Given the description of an element on the screen output the (x, y) to click on. 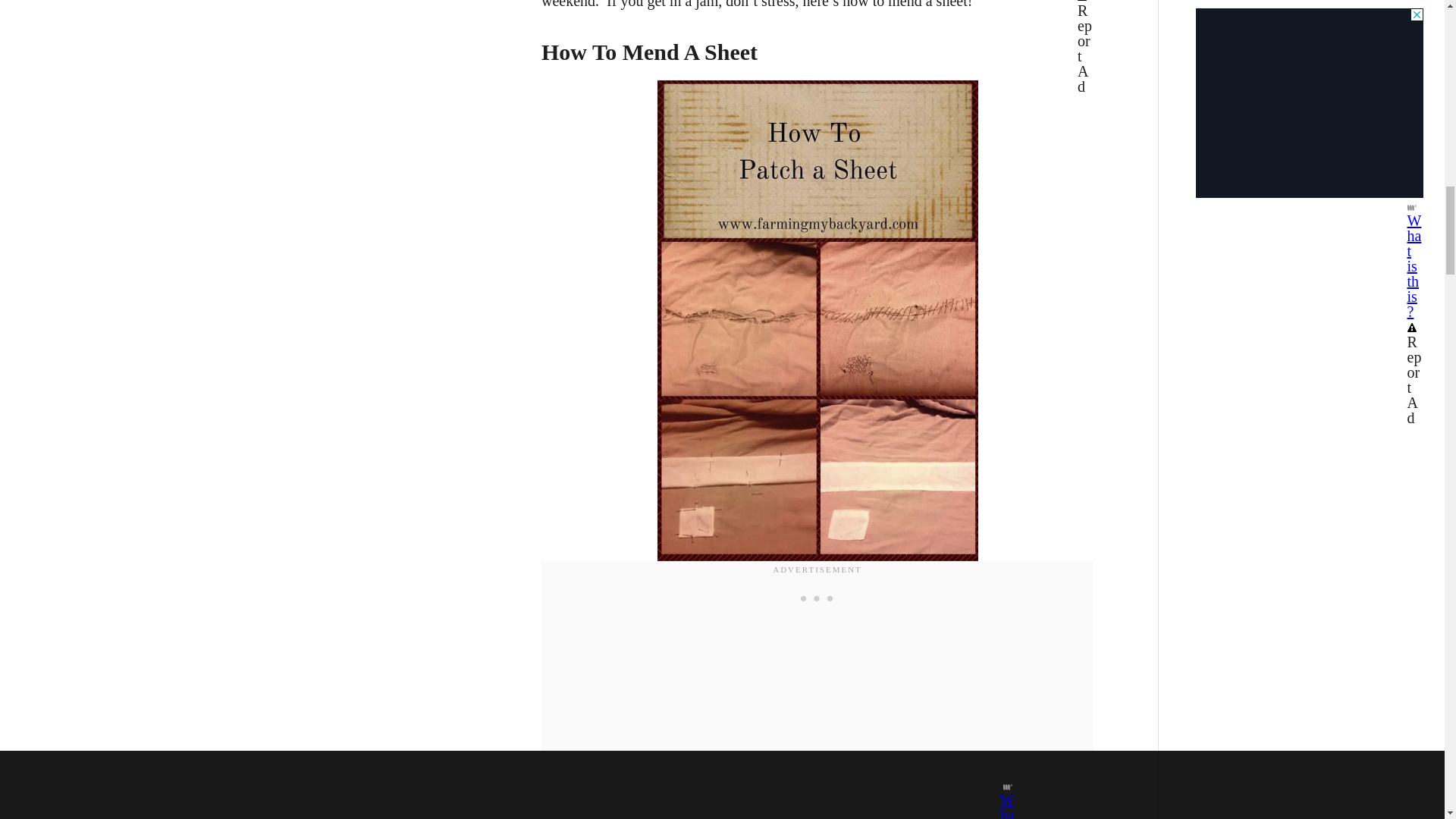
3rd party ad content (817, 598)
